Given the description of an element on the screen output the (x, y) to click on. 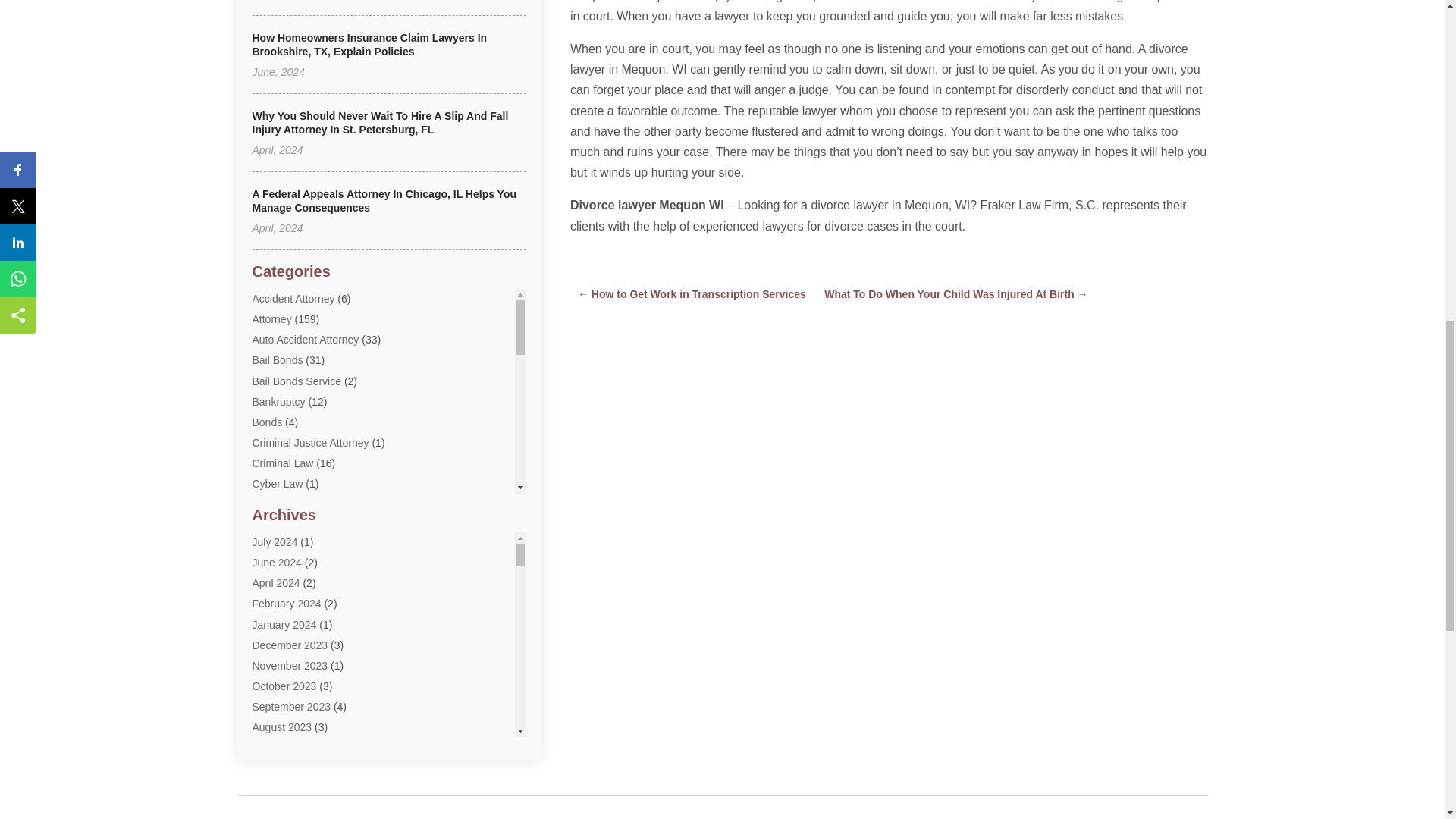
Criminal Justice Attorney (309, 442)
Family Law (278, 607)
Auto Accident Attorney (304, 339)
Bail Bonds (276, 359)
General (270, 628)
Dui Law Attorneys (294, 545)
Bail Bonds Service (295, 381)
Divorce Service (288, 525)
Divorce Lawyer (287, 504)
Accident Attorney (292, 298)
Bonds (266, 422)
Cyber Law (276, 483)
Criminal Law (282, 463)
